Given the description of an element on the screen output the (x, y) to click on. 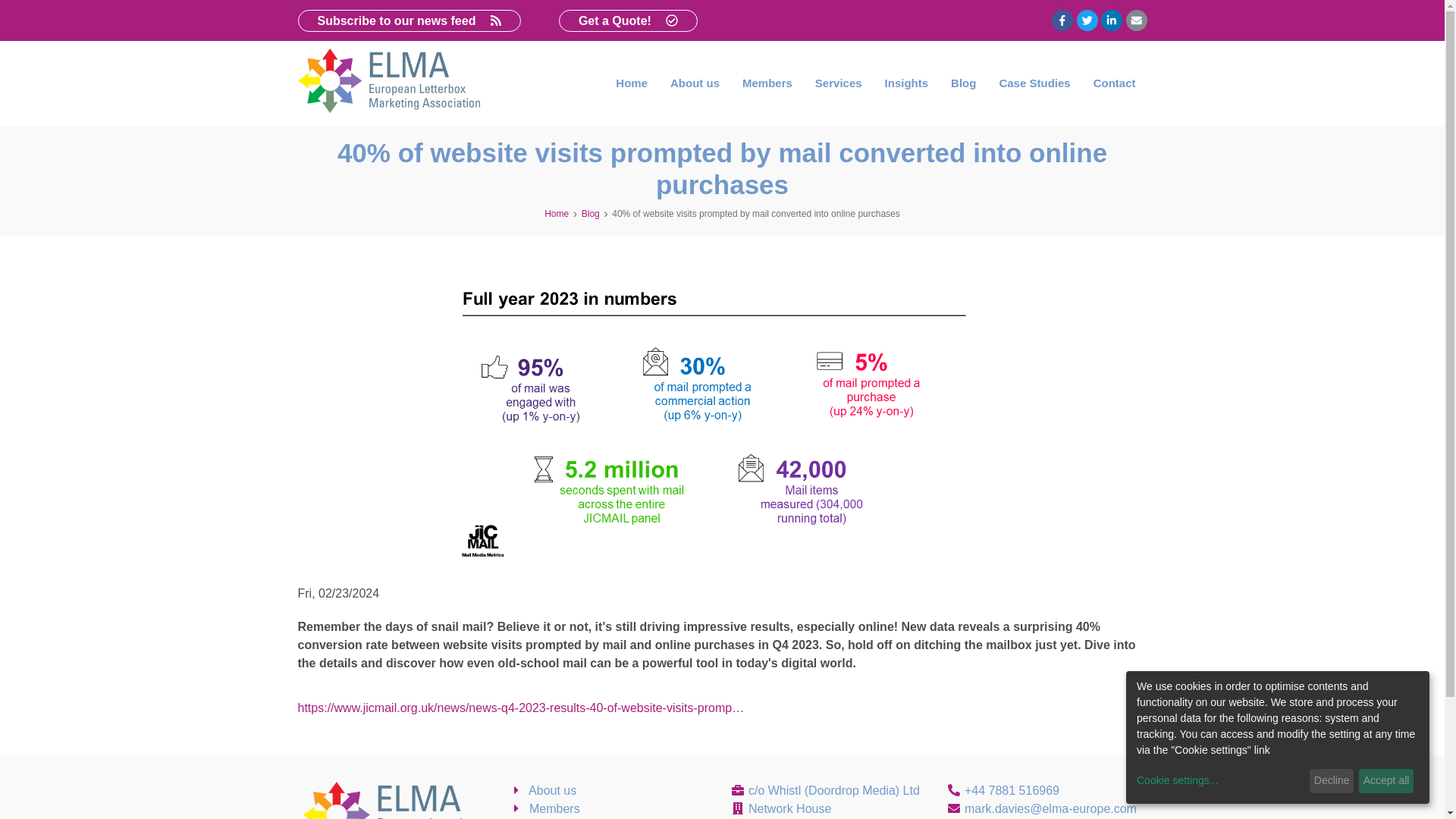
About us (694, 83)
Services (838, 83)
Decline (1331, 781)
Accept all (1385, 781)
Get a Quote! (628, 20)
Blog (589, 213)
Case Studies (1034, 83)
Members (766, 83)
Blog (963, 83)
Subscribe to our news feed (408, 20)
Contact (1114, 83)
Home (631, 83)
Cookie settings... (1220, 780)
Insights (906, 83)
Home (556, 213)
